Given the description of an element on the screen output the (x, y) to click on. 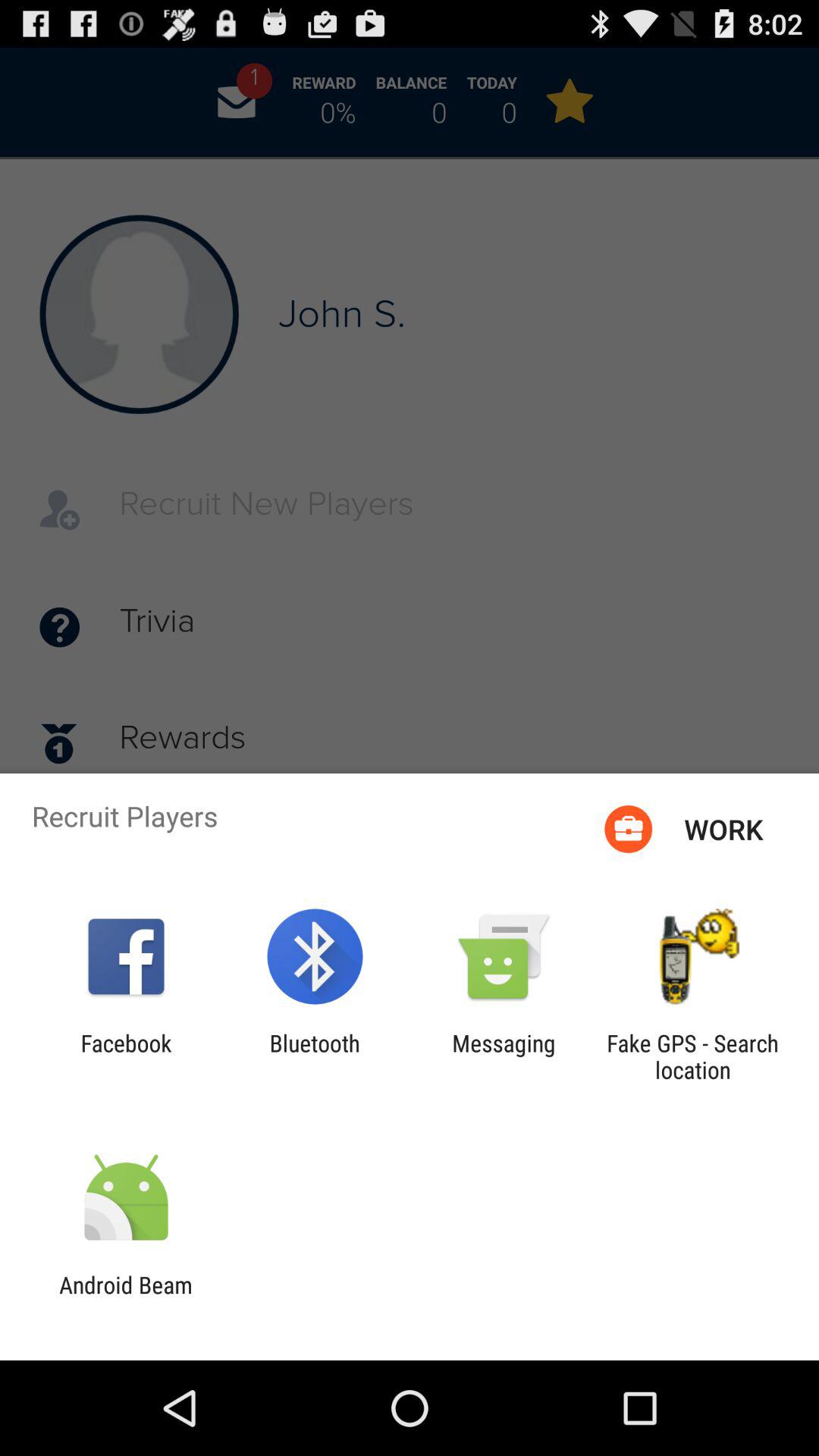
press the item at the bottom right corner (692, 1056)
